Given the description of an element on the screen output the (x, y) to click on. 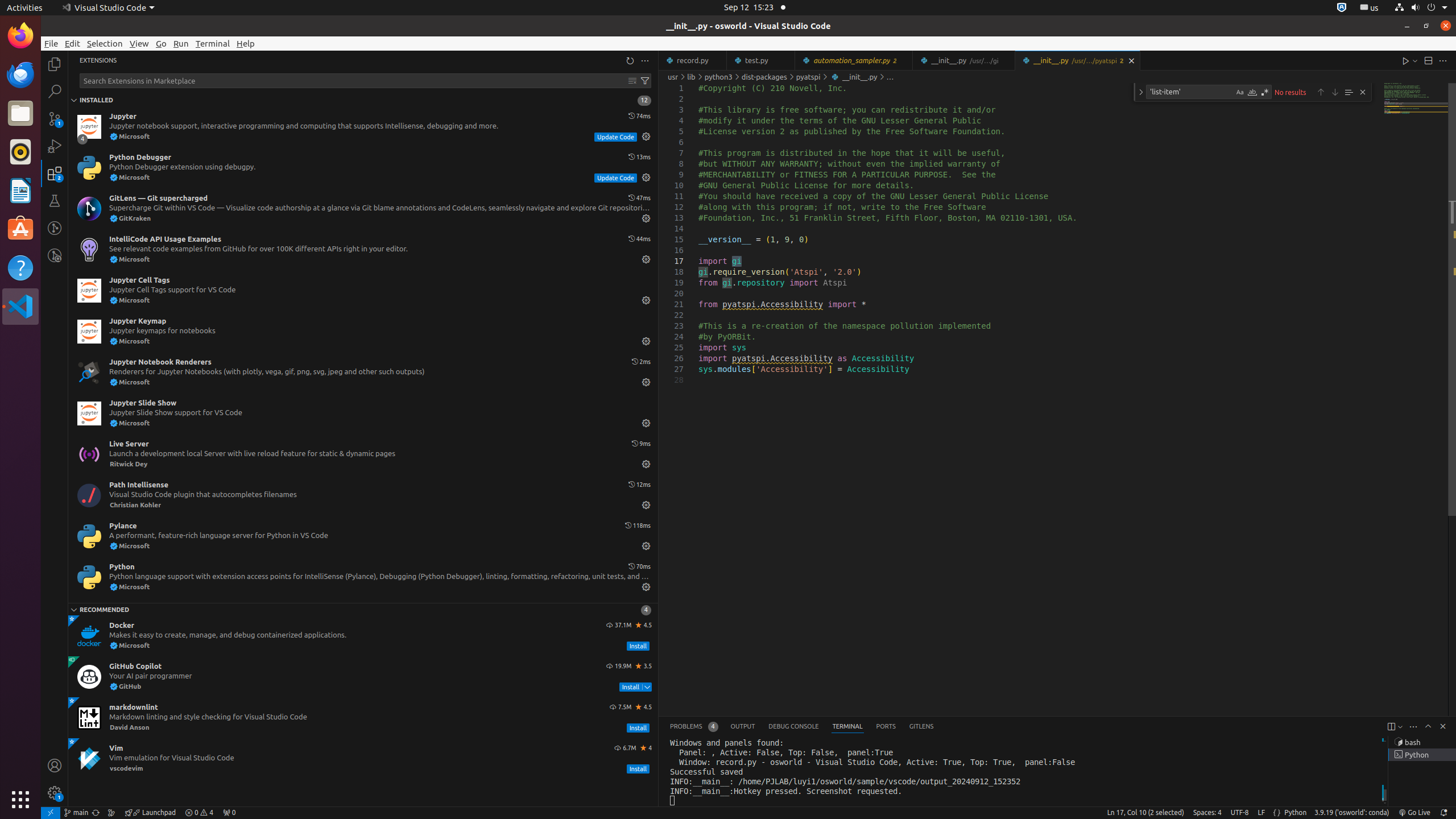
Jupyter Notebook Renderers, 1.0.19, Verified Publisher Microsoft, Renderers for Jupyter Notebooks (with plotly, vega, gif, png, svg, jpeg and other such outputs) , Rated 2.79 out of 5 stars by 14 users Element type: list-item (363, 372)
GitLens Element type: page-tab (921, 726)
Run Element type: push-button (181, 43)
Selection Element type: push-button (104, 43)
